Given the description of an element on the screen output the (x, y) to click on. 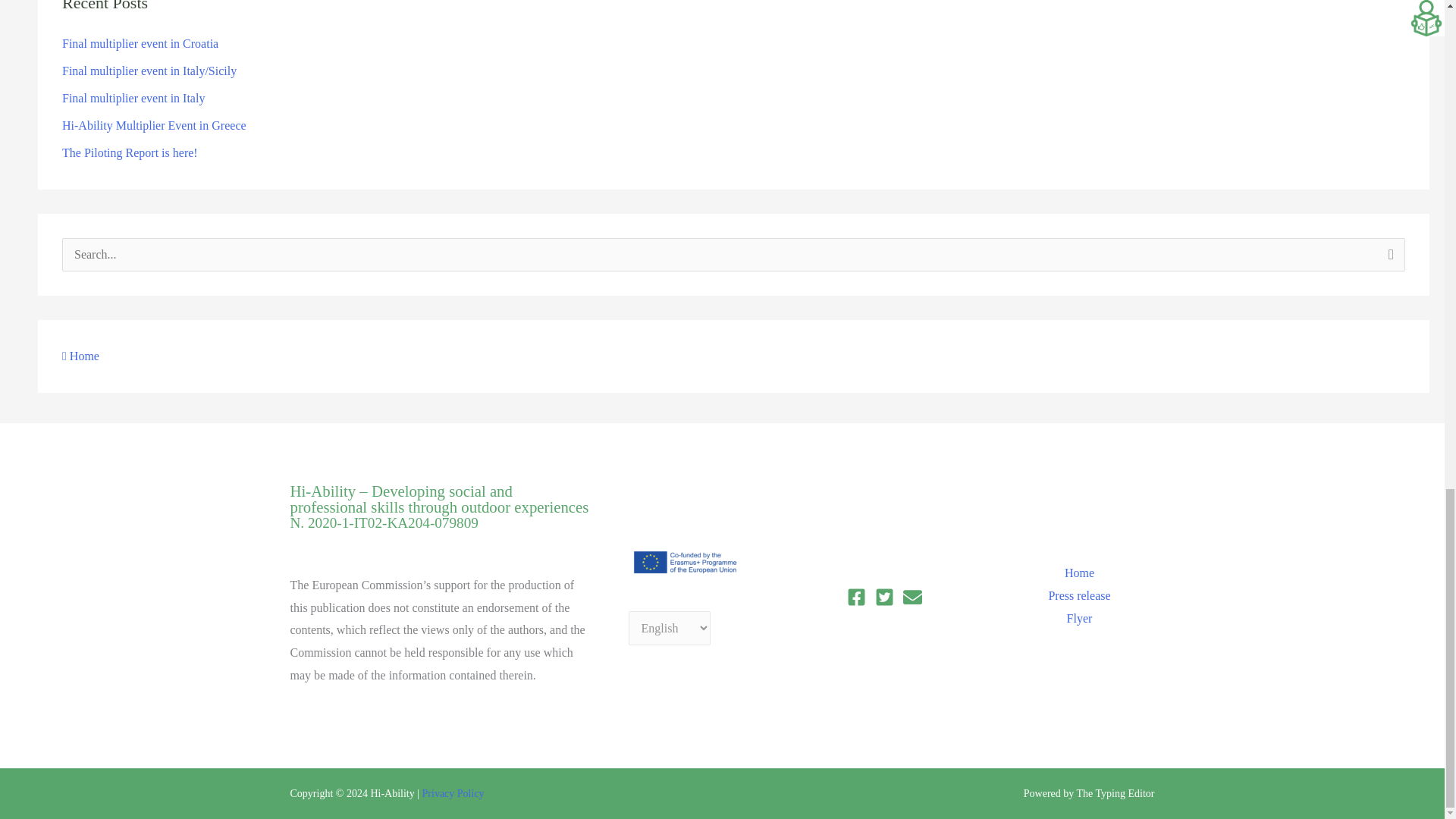
Final multiplier event in Croatia (140, 42)
Hi-Ability Multiplier Event in Greece (154, 124)
Final multiplier event in Italy (133, 97)
Home (80, 355)
The Piloting Report is here! (130, 152)
